Given the description of an element on the screen output the (x, y) to click on. 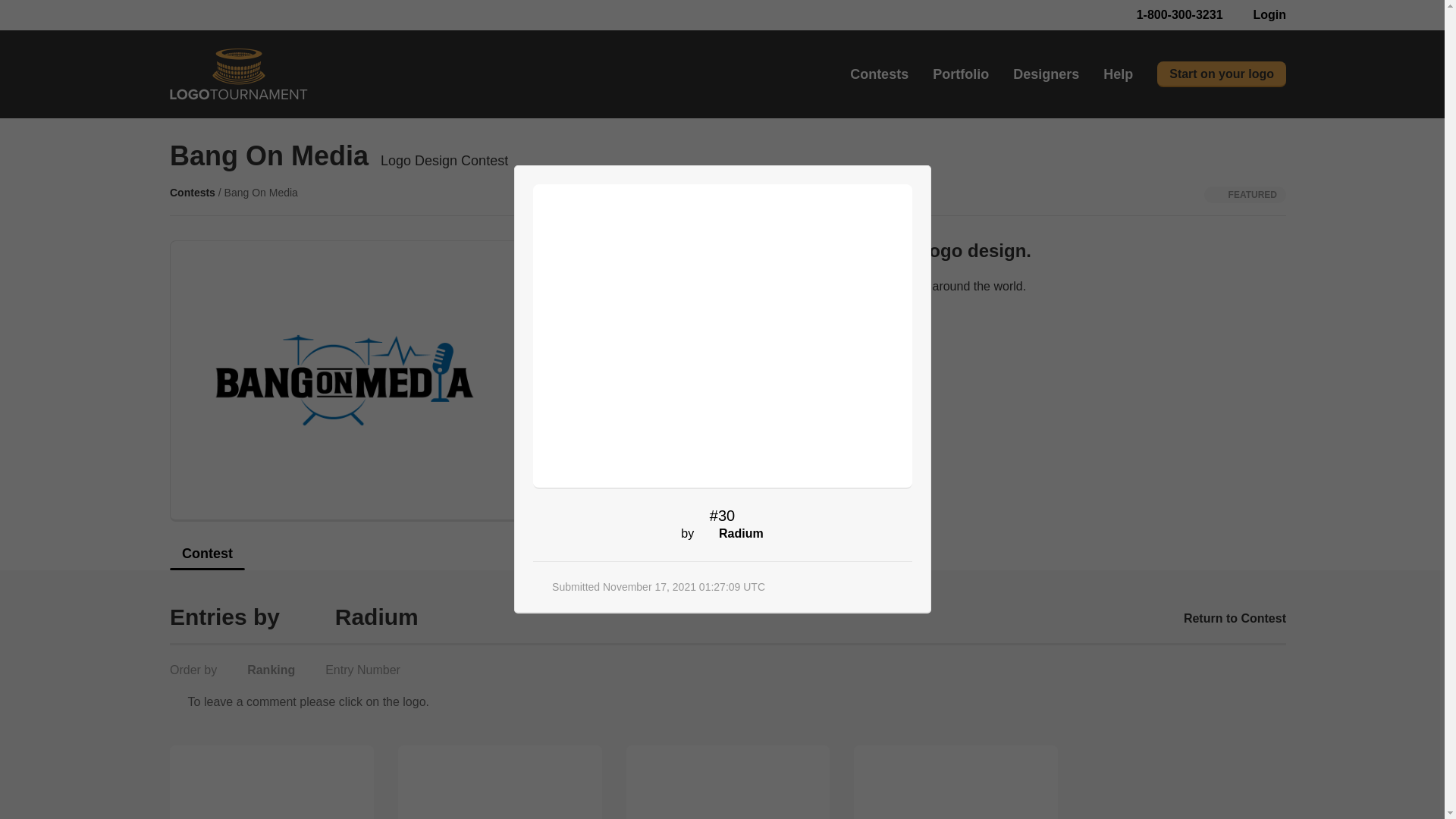
Start on your logo (1221, 73)
Contest (207, 558)
Contests (879, 74)
Designers (1045, 74)
Portfolio (960, 74)
Return to Contest (1225, 617)
Find out how LogoTournament works (686, 330)
Contests (192, 192)
Login (1259, 15)
Radium (376, 616)
